Given the description of an element on the screen output the (x, y) to click on. 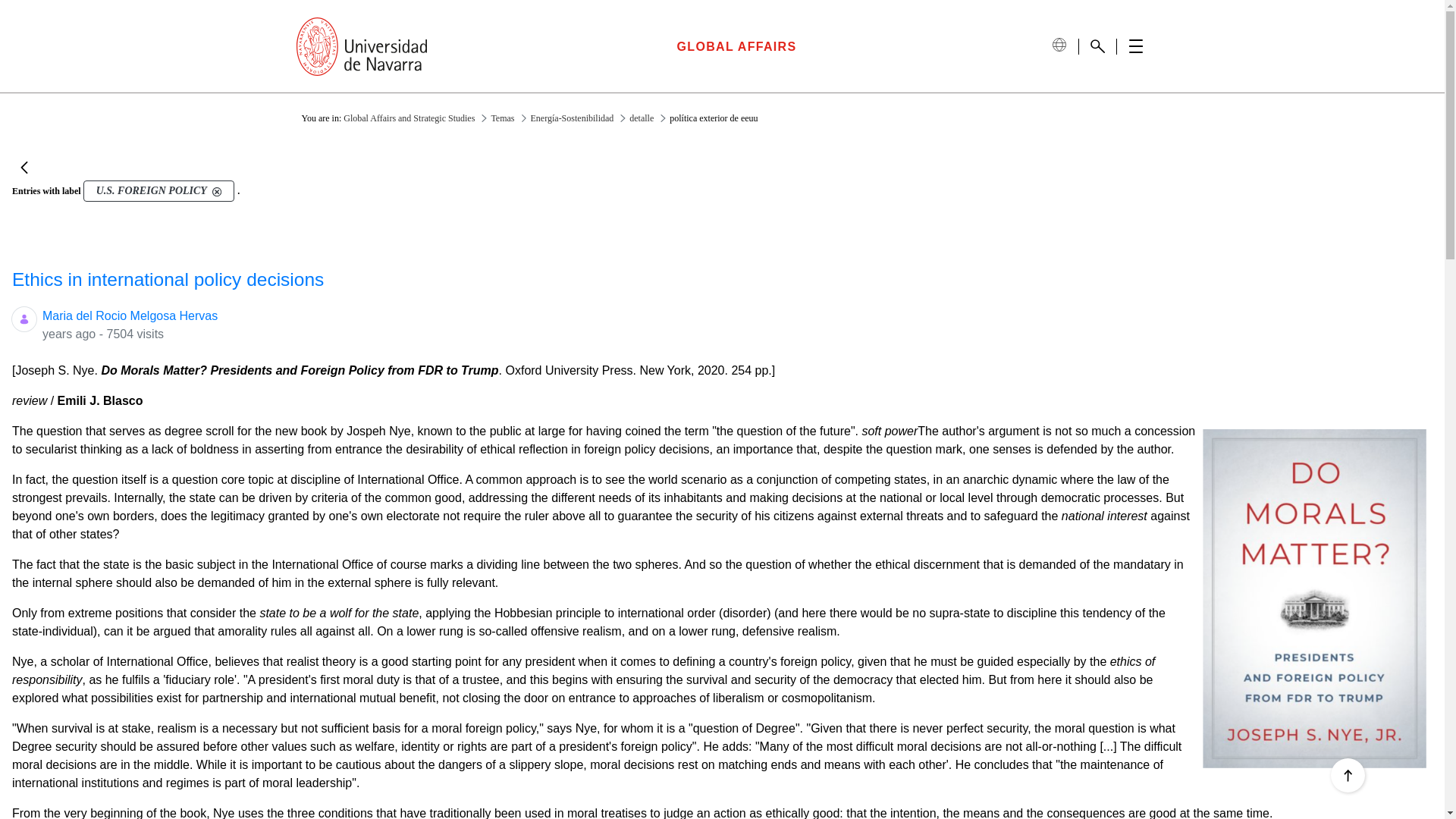
GLOBAL AFFAIRS (736, 46)
Global Affairs (736, 46)
University of Navarra (360, 46)
Selection of language (1059, 44)
Search (1097, 46)
Open menu (1135, 46)
